Given the description of an element on the screen output the (x, y) to click on. 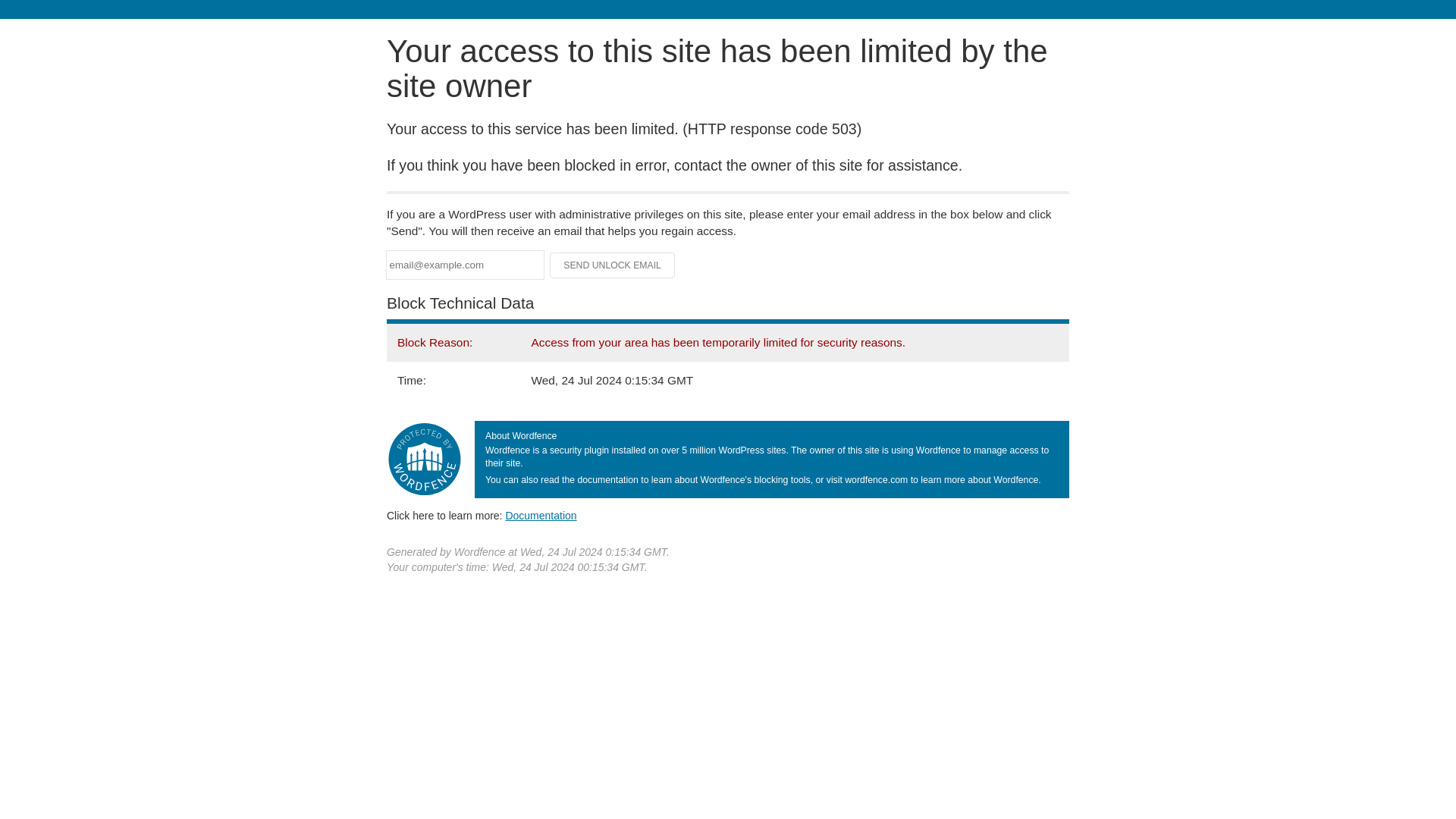
Documentation (540, 515)
Send Unlock Email (612, 265)
Send Unlock Email (612, 265)
